Given the description of an element on the screen output the (x, y) to click on. 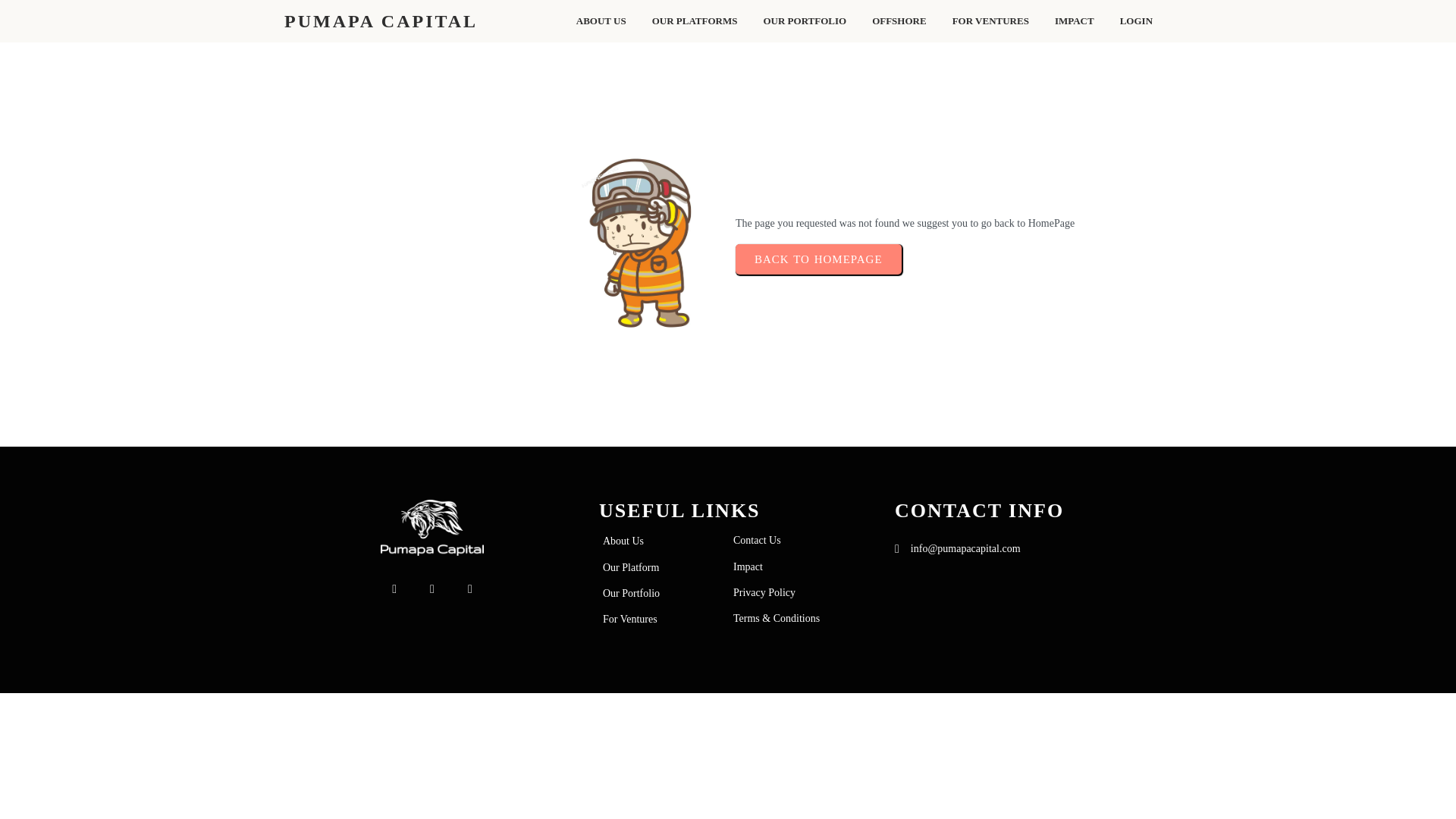
IMPACT (1074, 21)
For Ventures (653, 619)
Privacy Policy (784, 592)
Our Platform (653, 567)
OUR PORTFOLIO (804, 21)
ABOUT US (600, 21)
FOR VENTURES (990, 21)
Contact Us (784, 540)
OFFSHORE (898, 21)
PUMAPA CAPITAL (386, 21)
